Given the description of an element on the screen output the (x, y) to click on. 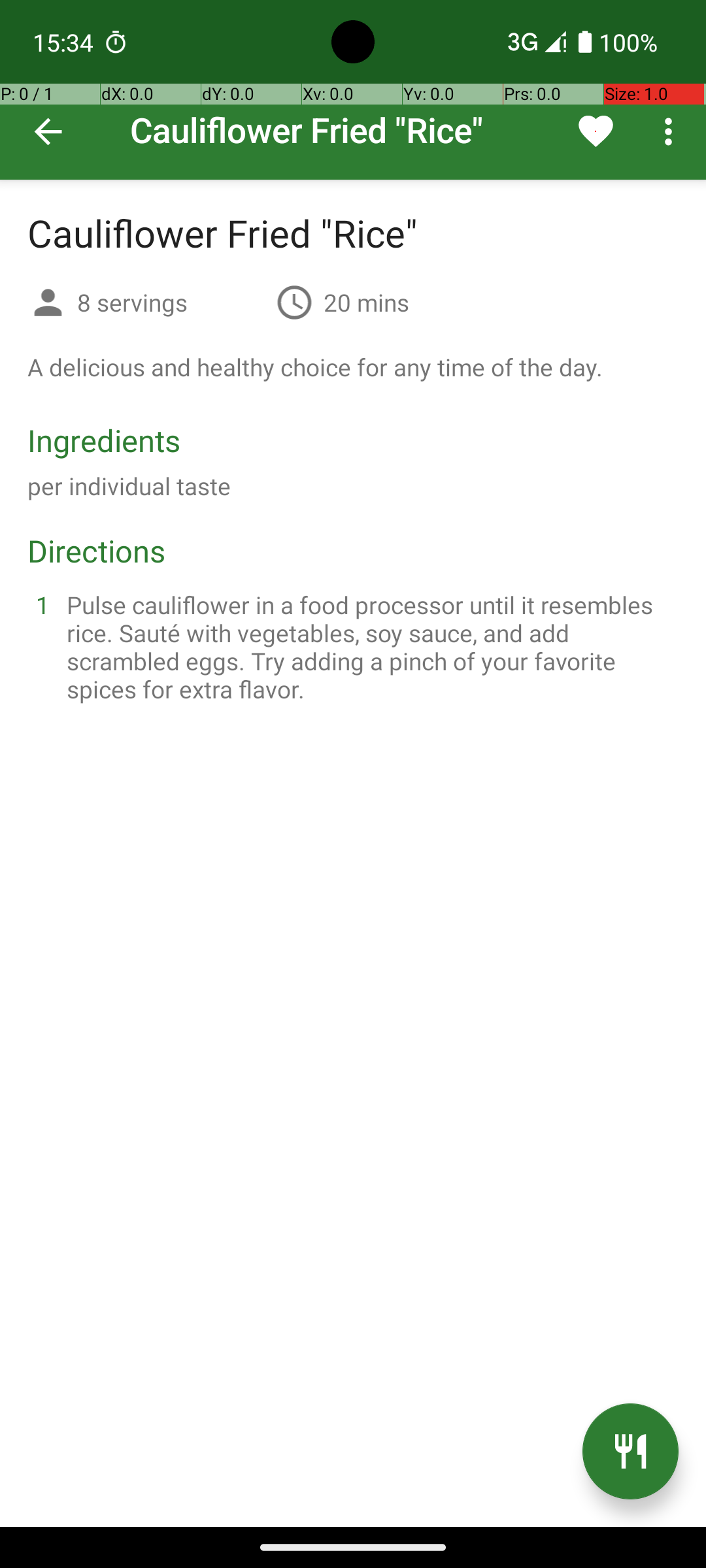
Cauliflower Fried "Rice" Element type: android.widget.FrameLayout (353, 89)
Remove from favorites Element type: android.widget.Button (595, 131)
8 servings Element type: android.widget.TextView (170, 301)
20 mins Element type: android.widget.TextView (366, 301)
per individual taste Element type: android.widget.TextView (128, 485)
Pulse cauliflower in a food processor until it resembles rice. Sauté with vegetables, soy sauce, and add scrambled eggs. Try adding a pinch of your favorite spices for extra flavor. Element type: android.widget.TextView (368, 646)
